Given the description of an element on the screen output the (x, y) to click on. 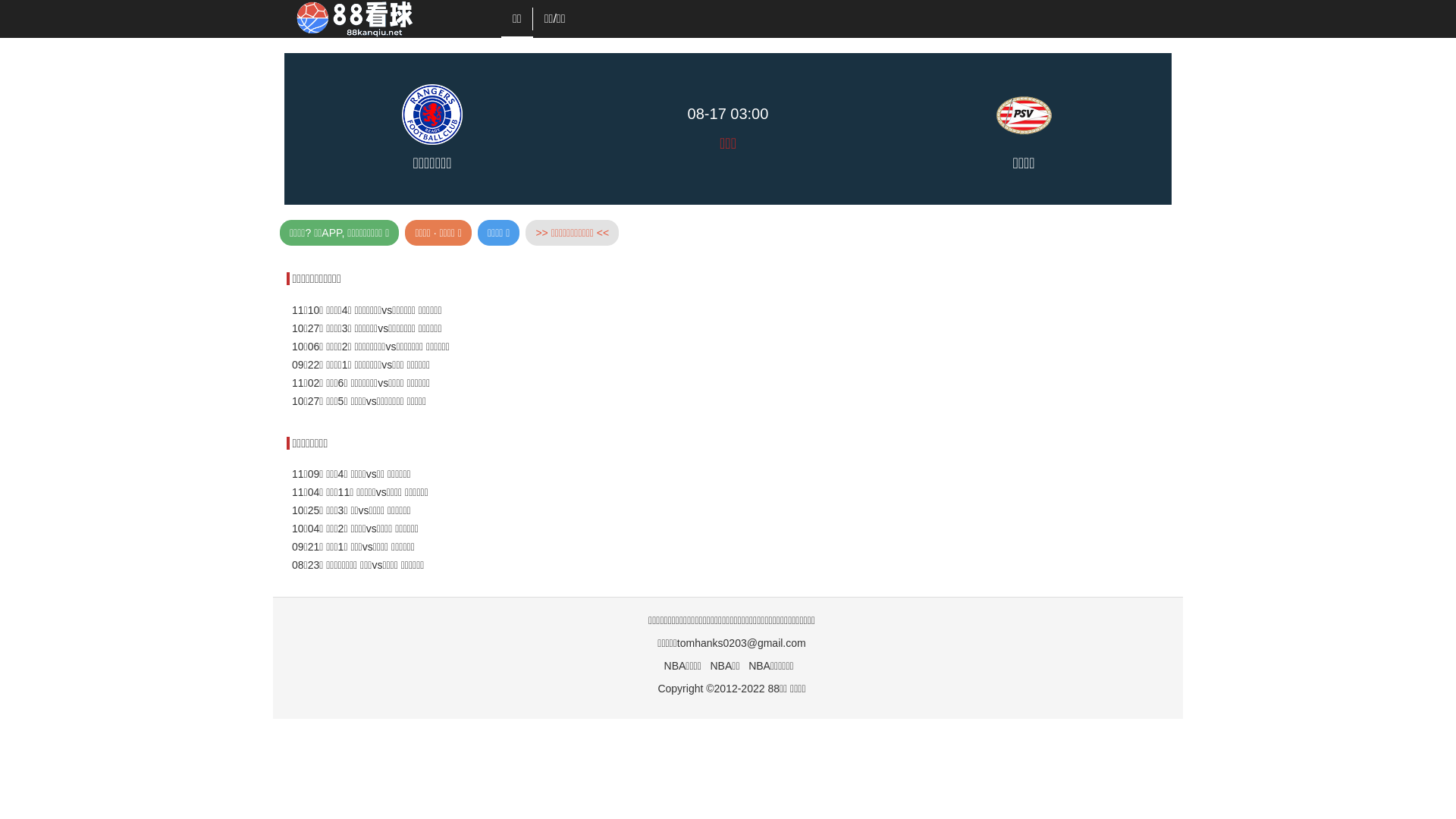
tomhanks0203@gmail.com Element type: text (741, 643)
